Given the description of an element on the screen output the (x, y) to click on. 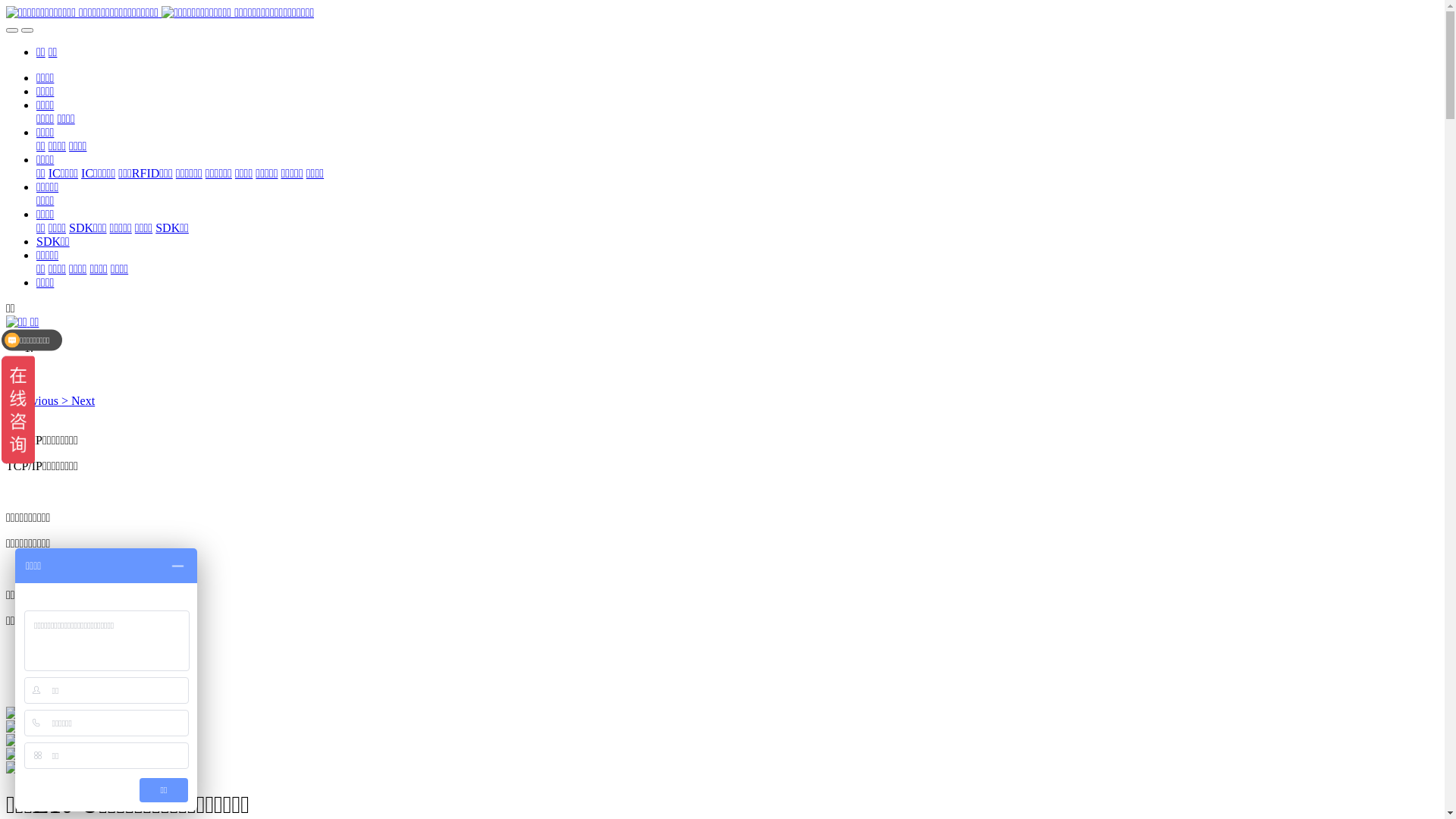
> Next Element type: text (77, 400)
< Previous Element type: text (33, 400)
